Given the description of an element on the screen output the (x, y) to click on. 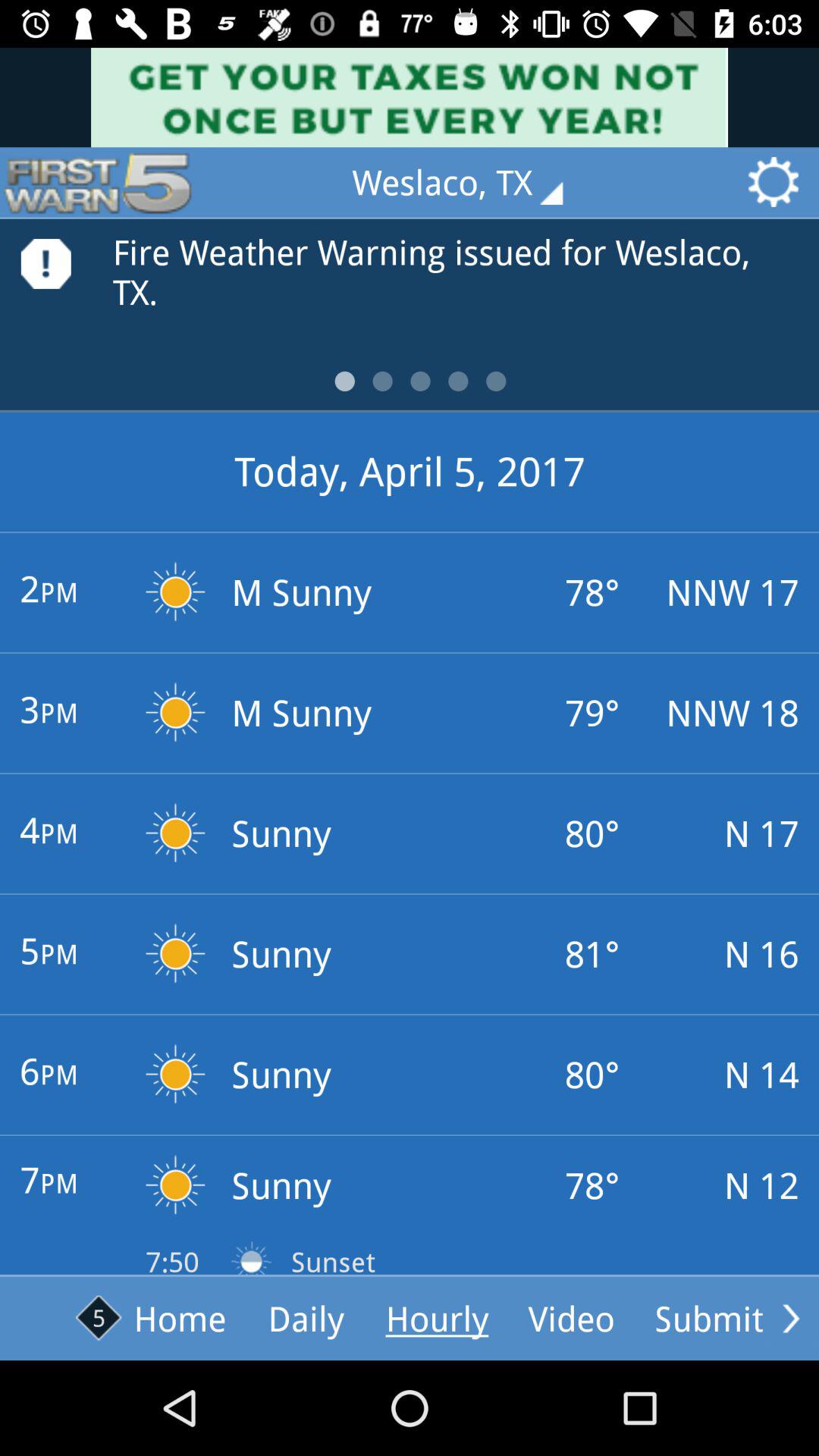
sun icon right to 4pm text (175, 849)
select the video text beside hourly (571, 1317)
click settings icon in top right of the page (778, 181)
